Given the description of an element on the screen output the (x, y) to click on. 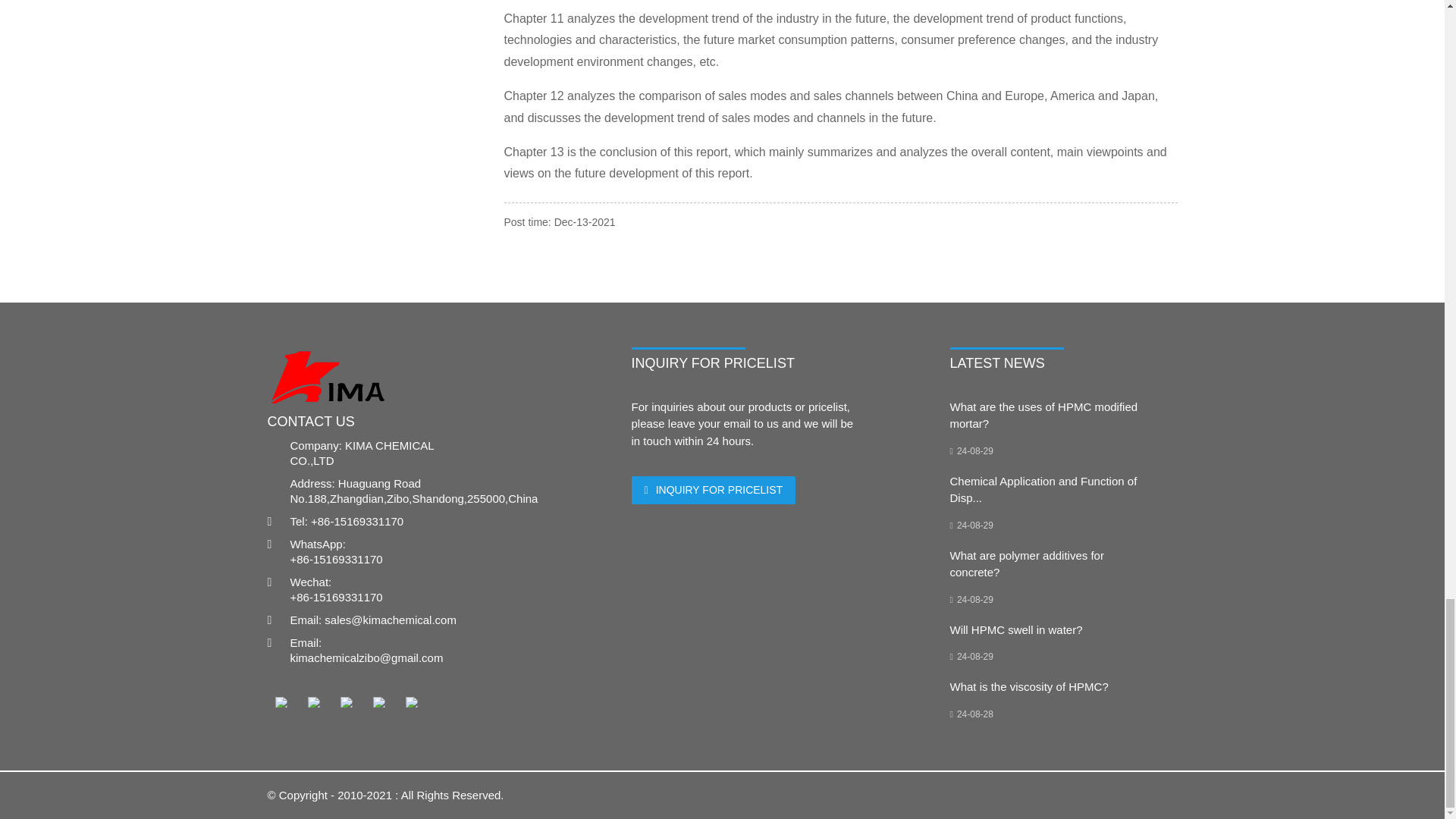
Chemical Application and Function of Disp... (1043, 490)
What are the uses of HPMC modified mortar? (1043, 415)
What are polymer additives for concrete? (1026, 563)
